Given the description of an element on the screen output the (x, y) to click on. 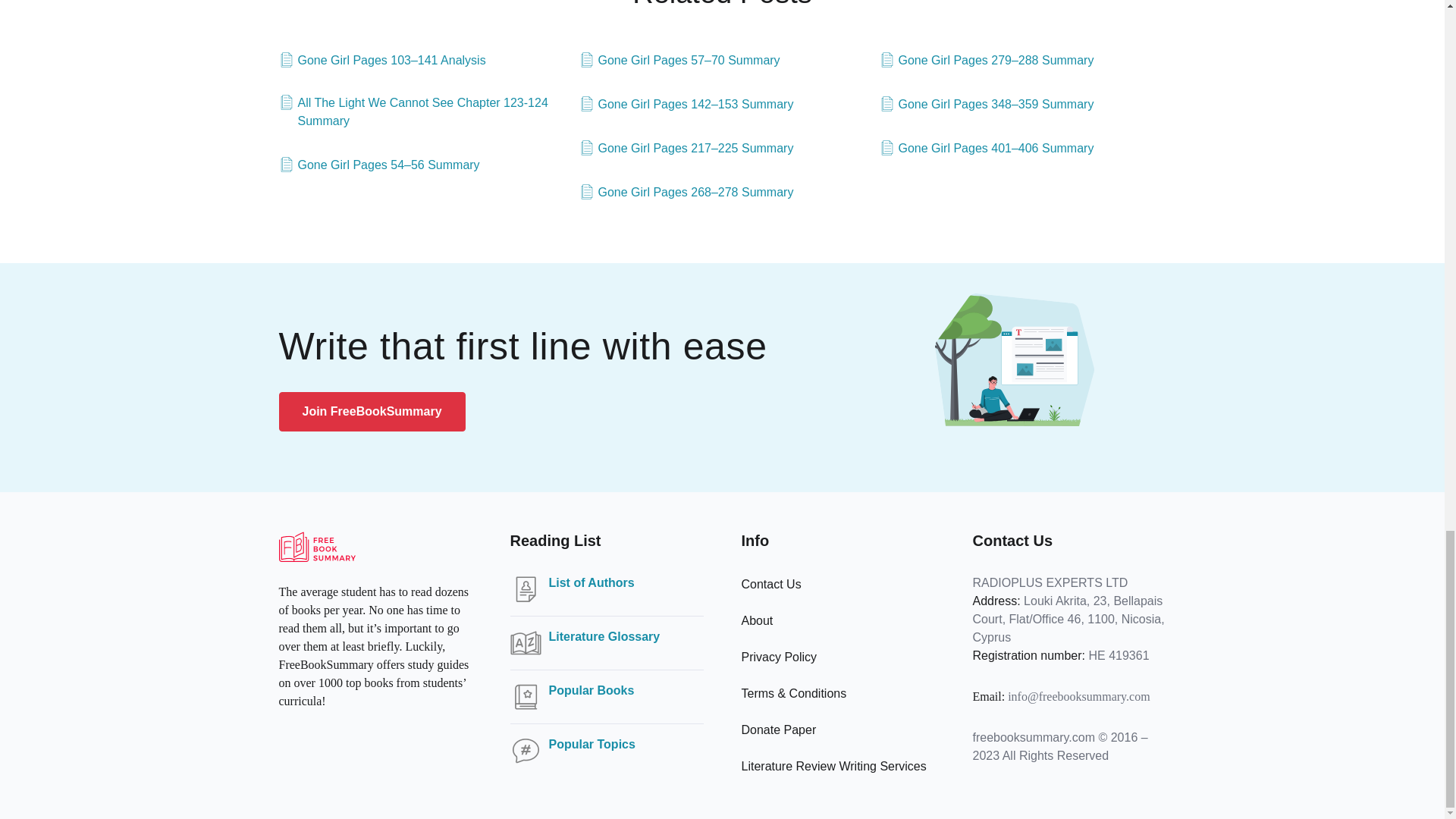
Privacy Policy (778, 656)
About (757, 620)
List of Authors (591, 583)
Contact Us (771, 584)
Literature Glossary (604, 637)
Popular Books (591, 690)
Literature Review Writing Services (833, 766)
Donate Paper (778, 729)
Popular Topics (591, 744)
All The Light We Cannot See Chapter 123-124 Summary (422, 112)
